Given the description of an element on the screen output the (x, y) to click on. 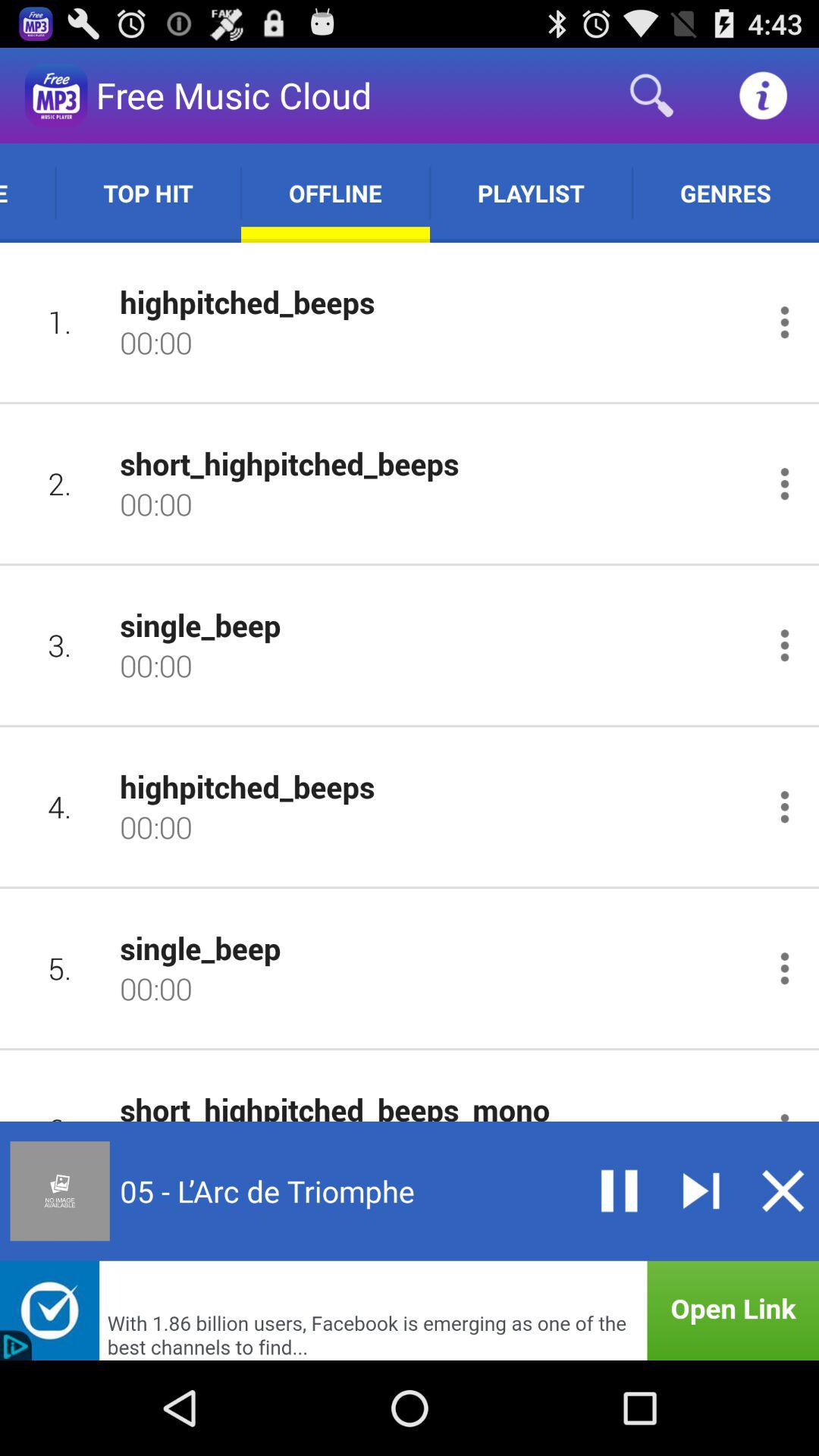
pause (619, 1190)
